Given the description of an element on the screen output the (x, y) to click on. 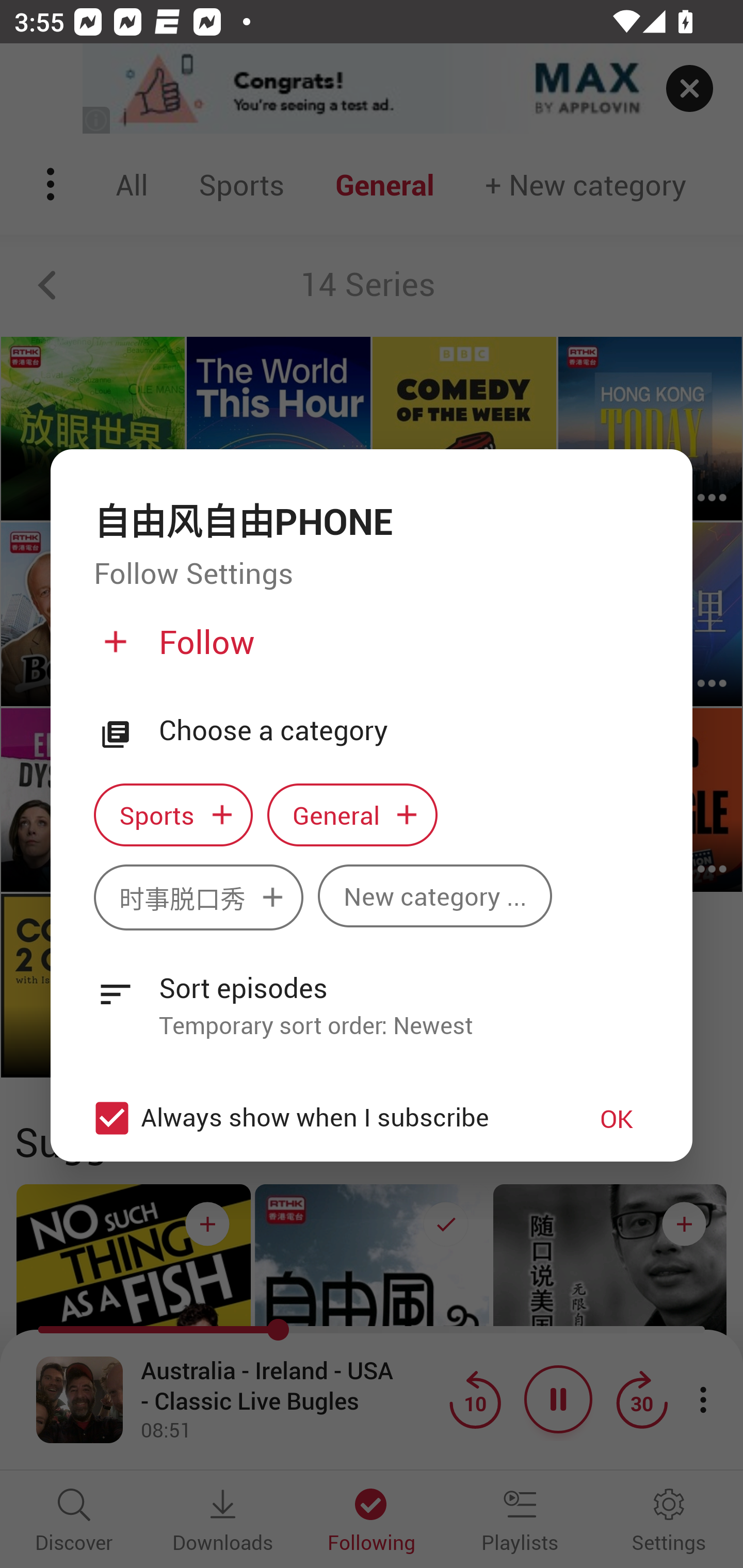
Follow (369, 649)
Choose a category (404, 730)
Sports (172, 815)
General (352, 815)
时事脱口秀 (198, 896)
New category ... (435, 894)
Sort episodes Temporary sort order: Newest (371, 995)
OK (616, 1118)
Always show when I subscribe (320, 1118)
